Given the description of an element on the screen output the (x, y) to click on. 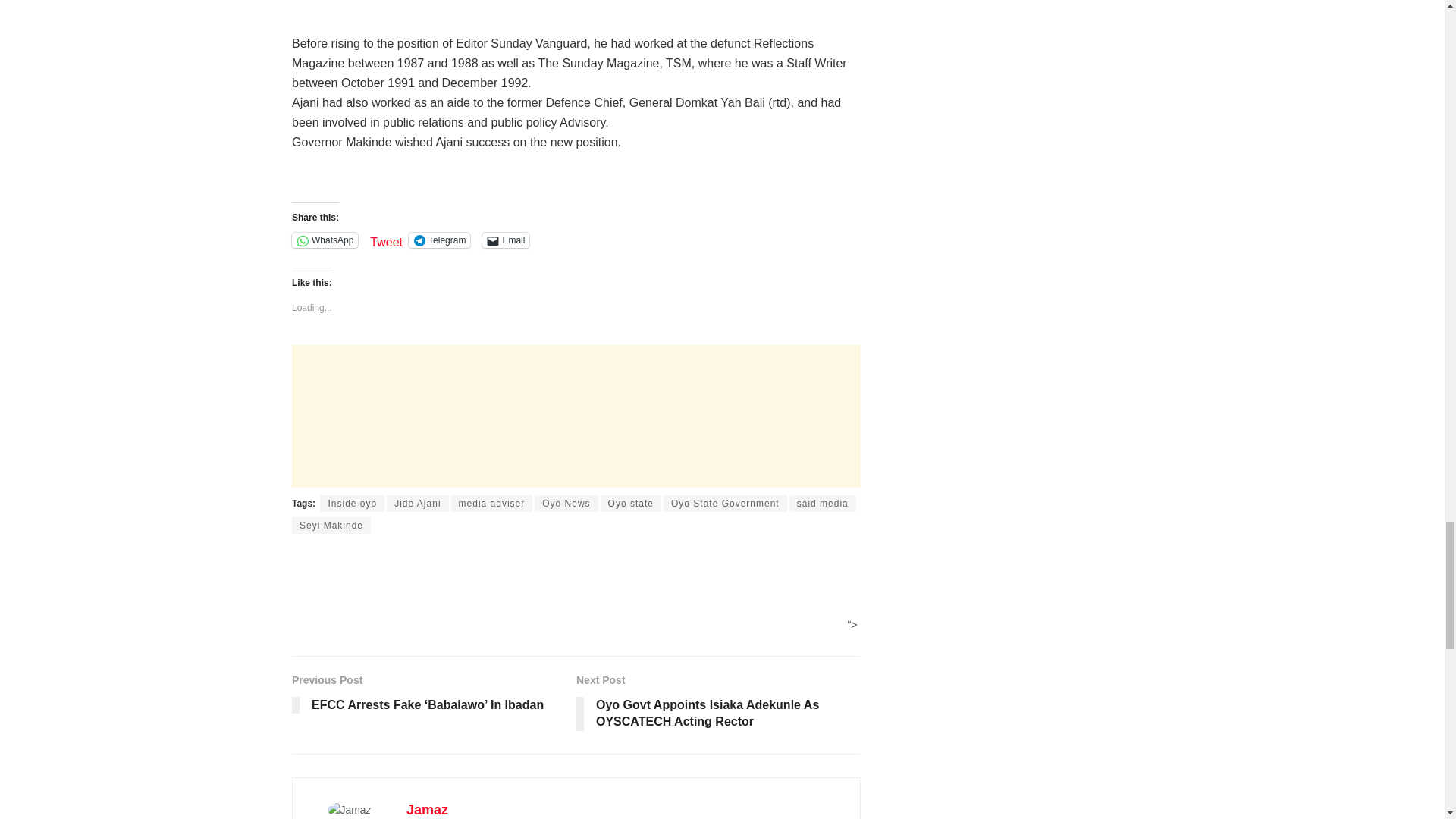
Click to share on WhatsApp (325, 240)
Click to email a link to a friend (505, 240)
Click to share on Telegram (439, 240)
